Given the description of an element on the screen output the (x, y) to click on. 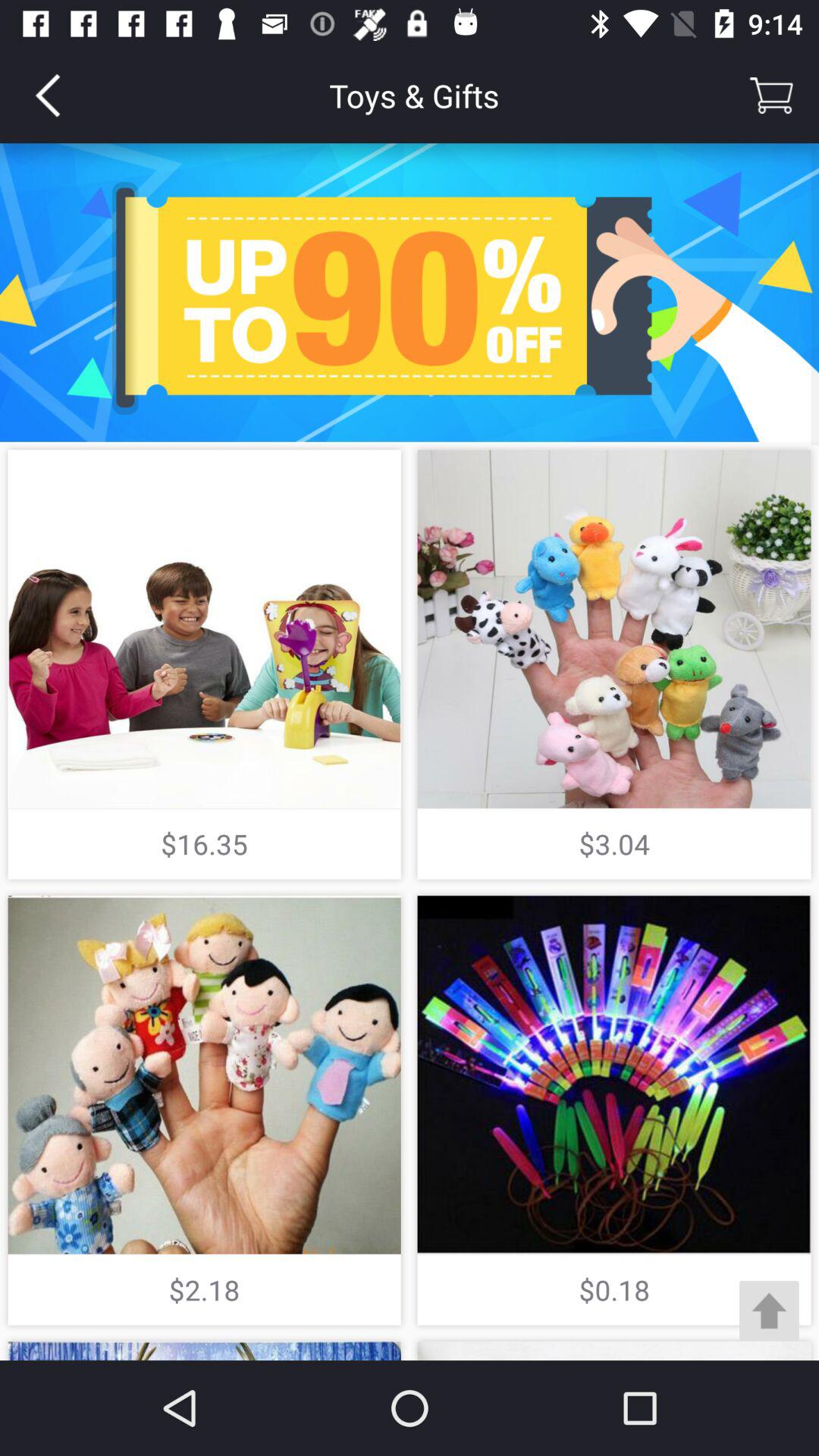
cart (771, 95)
